Given the description of an element on the screen output the (x, y) to click on. 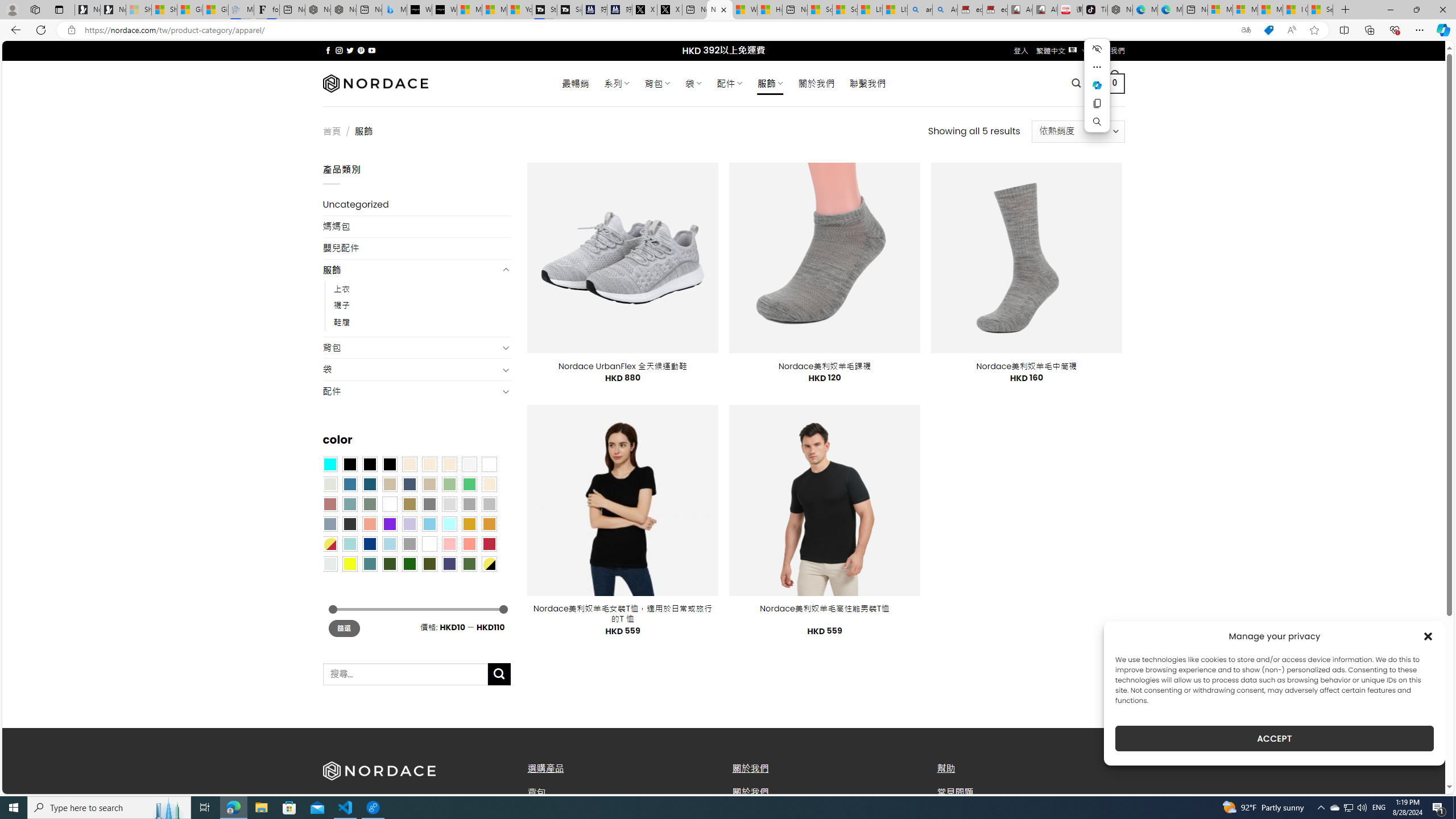
Restore (1416, 9)
More actions (1096, 67)
Microsoft Bing Travel - Shangri-La Hotel Bangkok (394, 9)
